Given the description of an element on the screen output the (x, y) to click on. 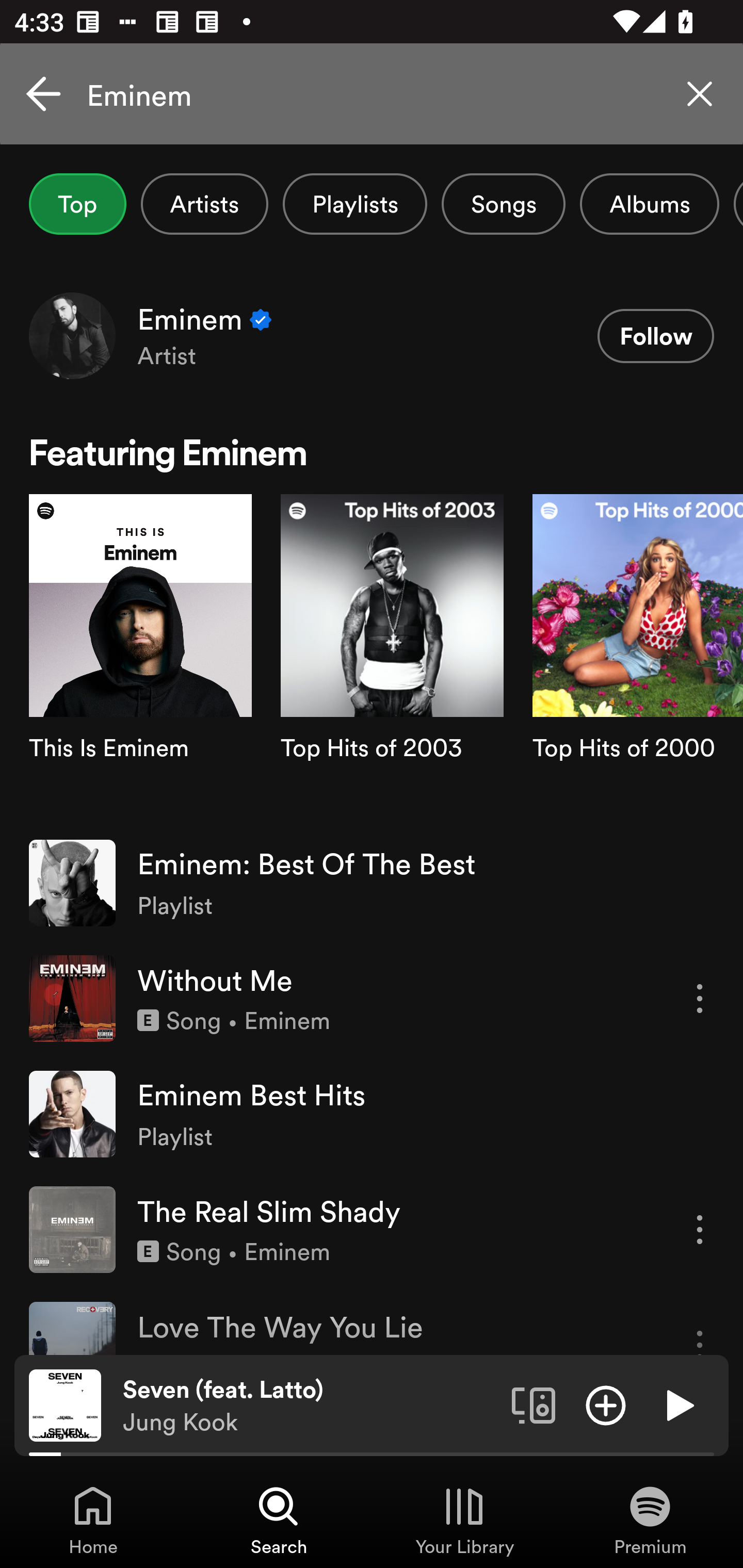
Eminem (371, 93)
Cancel (43, 93)
Clear search query (699, 93)
Top (77, 203)
Artists (204, 203)
Playlists (355, 203)
Songs (503, 203)
Albums (649, 203)
Eminem Verified Artist Follow Follow (371, 335)
Follow (655, 335)
Search card image This Is Eminem (139, 658)
Search card image Top Hits of 2003 (391, 658)
Search card image Top Hits of 2000 (637, 658)
Eminem: Best Of The Best Playlist (371, 882)
More options for song Without Me (699, 997)
Eminem Best Hits Playlist (371, 1113)
More options for song The Real Slim Shady (699, 1229)
More options for song Love The Way You Lie (699, 1327)
Seven (feat. Latto) Jung Kook (309, 1405)
The cover art of the currently playing track (64, 1404)
Connect to a device. Opens the devices menu (533, 1404)
Add item (605, 1404)
Play (677, 1404)
Home, Tab 1 of 4 Home Home (92, 1519)
Search, Tab 2 of 4 Search Search (278, 1519)
Your Library, Tab 3 of 4 Your Library Your Library (464, 1519)
Premium, Tab 4 of 4 Premium Premium (650, 1519)
